Given the description of an element on the screen output the (x, y) to click on. 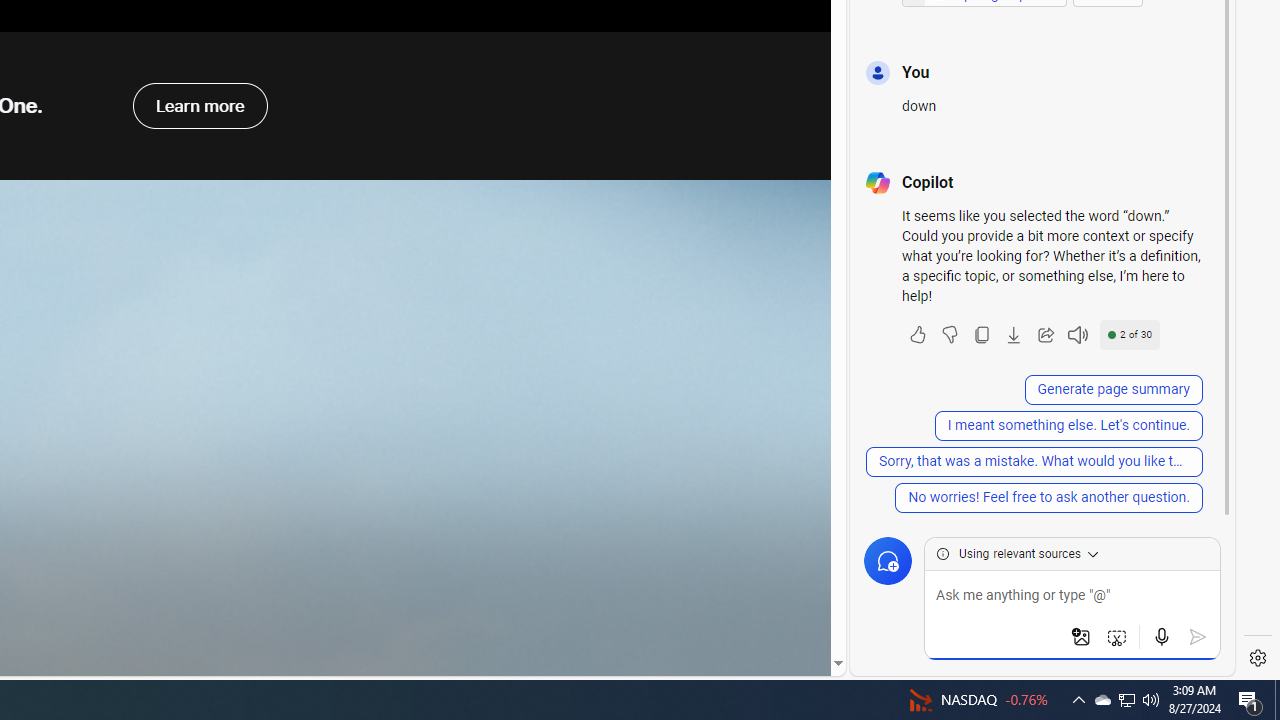
learn more about apple one (199, 105)
